Given the description of an element on the screen output the (x, y) to click on. 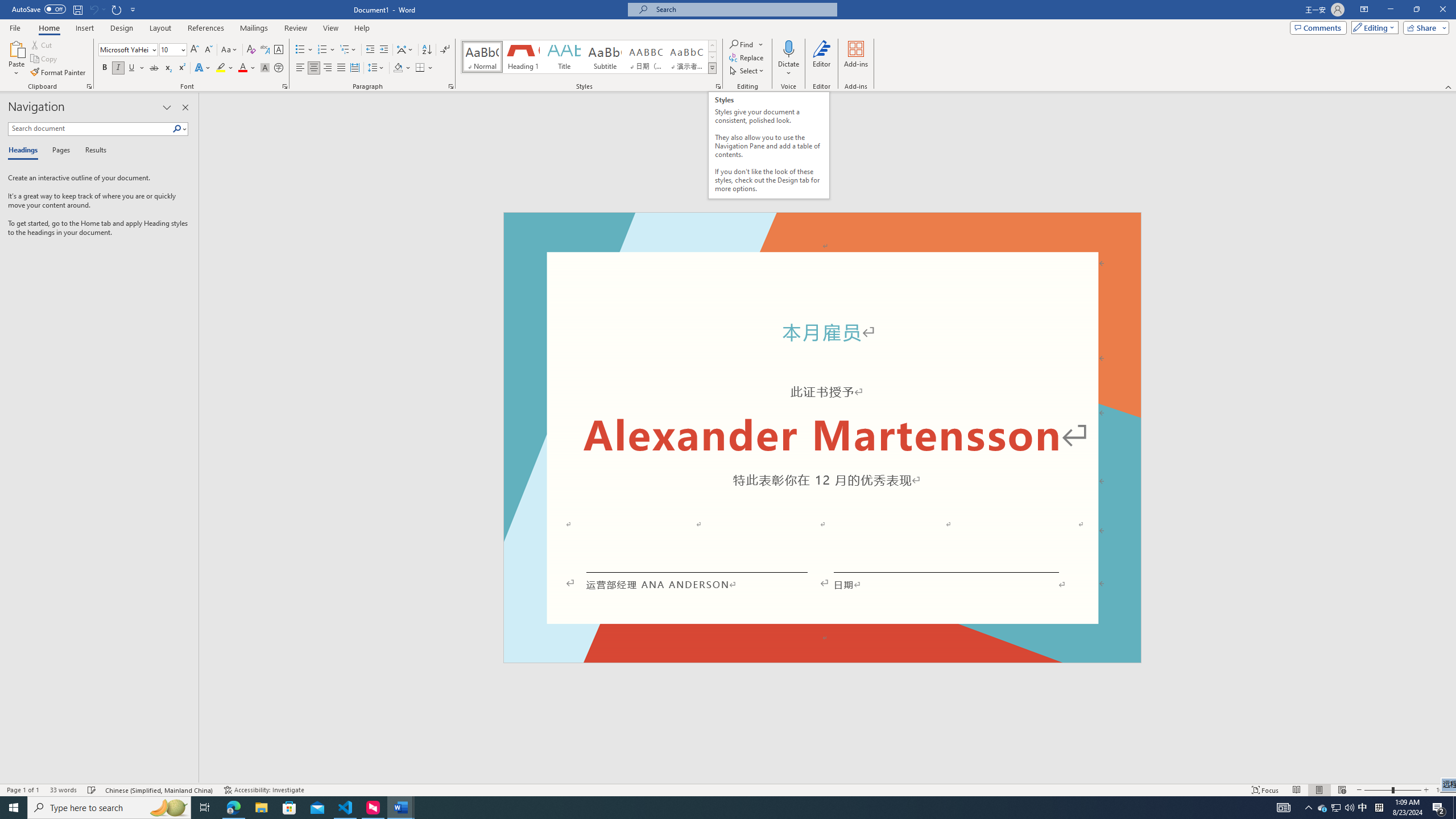
Replace... (747, 56)
Shading (402, 67)
Spelling and Grammar Check Checking (91, 790)
Styles (711, 67)
Show/Hide Editing Marks (444, 49)
Paragraph... (450, 85)
Bold (104, 67)
Accessibility Checker Accessibility: Investigate (263, 790)
Grow Font (193, 49)
Change Case (229, 49)
Class: NetUIScrollBar (1450, 437)
